Given the description of an element on the screen output the (x, y) to click on. 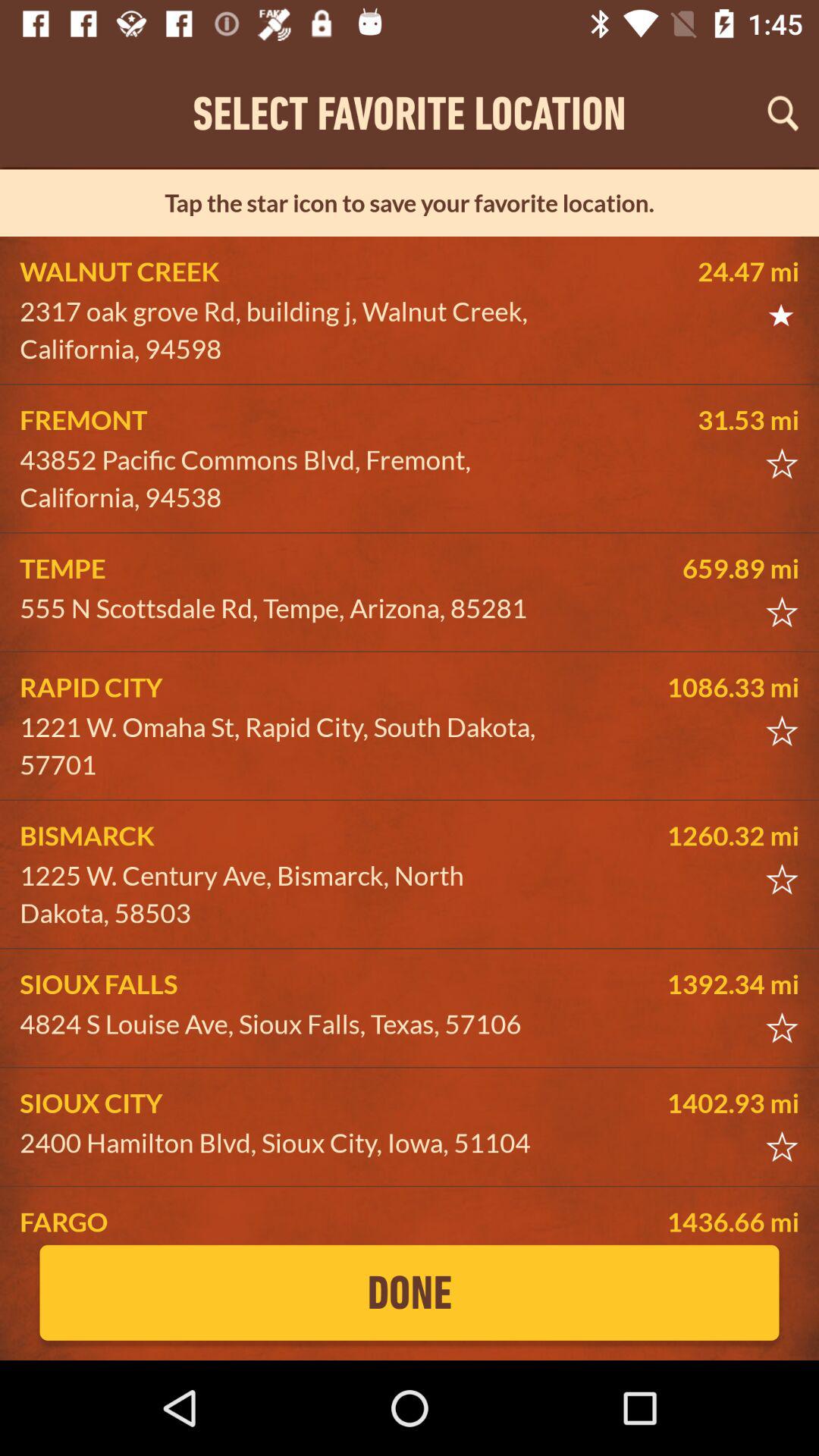
turn on the done icon (409, 1292)
